Given the description of an element on the screen output the (x, y) to click on. 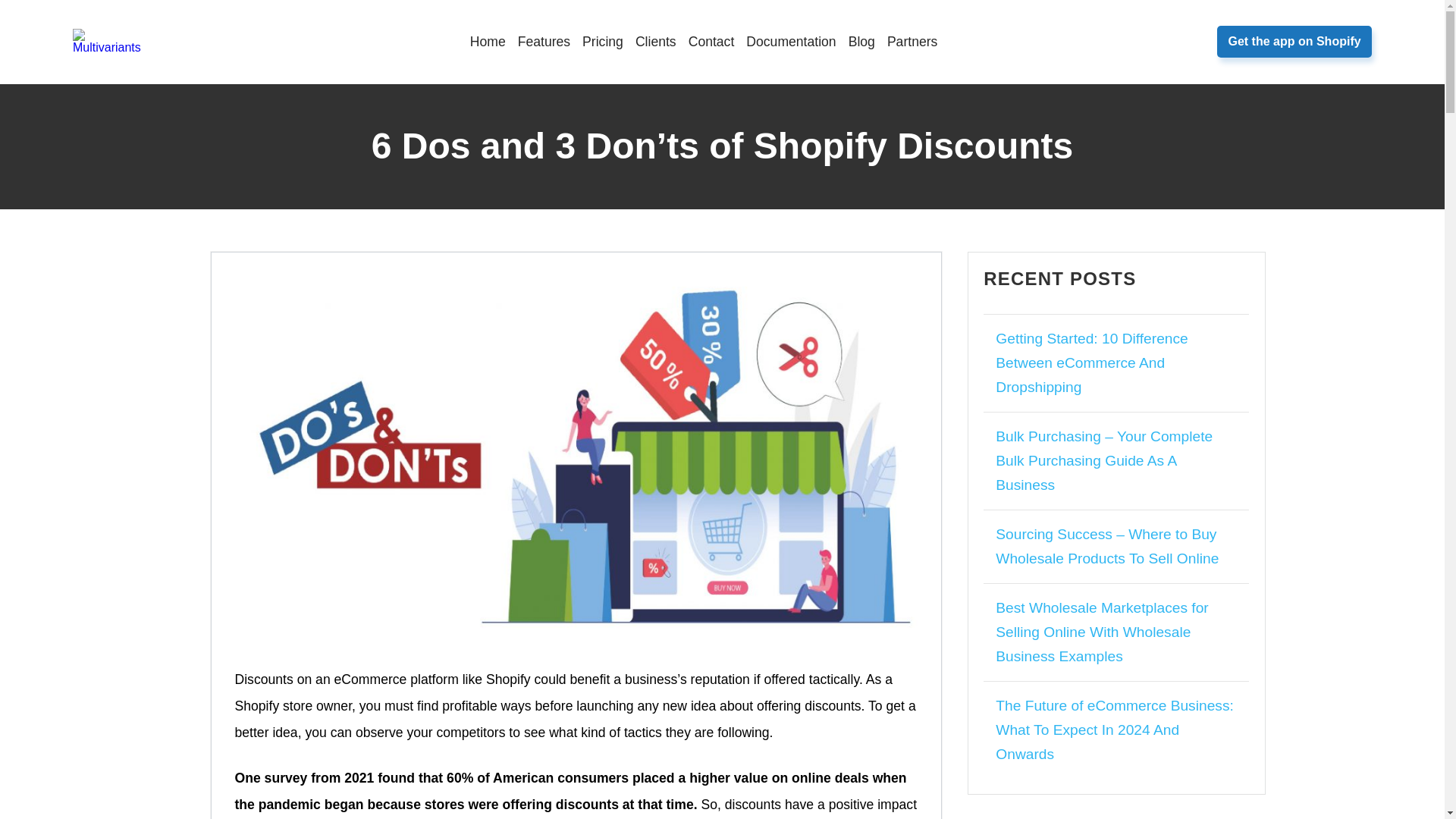
Clients (655, 40)
Get the app on Shopify (1294, 41)
Get the app on Shopify (1294, 41)
Features (544, 40)
Contact (711, 40)
Blog (861, 40)
Partners (911, 40)
